Given the description of an element on the screen output the (x, y) to click on. 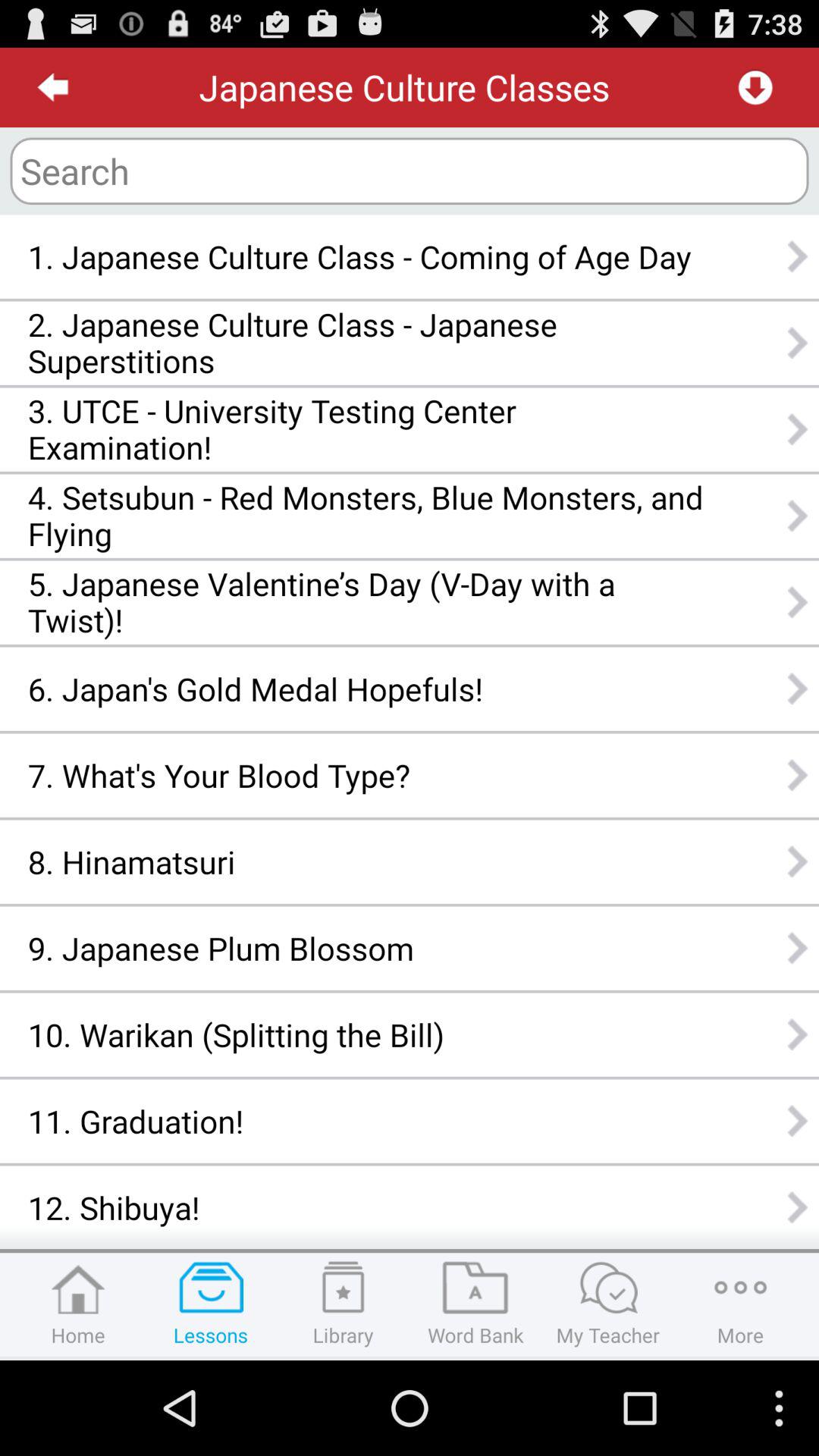
flip to the 4 setsubun red (365, 515)
